Given the description of an element on the screen output the (x, y) to click on. 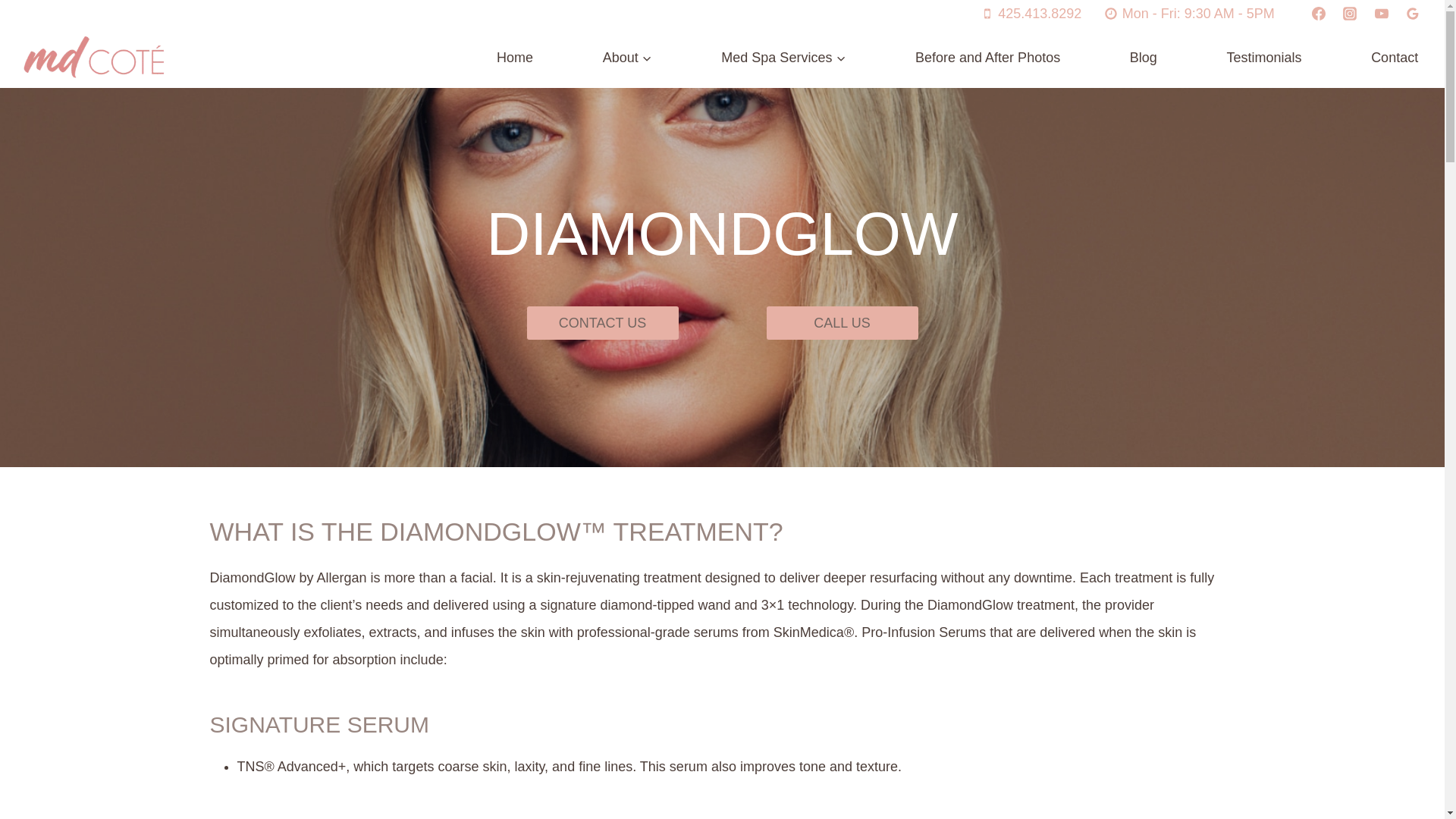
Contact (1394, 57)
Testimonials (1264, 57)
CONTACT US (601, 322)
CALL US (841, 322)
Blog (1143, 57)
Before and After Photos (987, 57)
Home (514, 57)
425.413.8292 (1030, 13)
About (627, 57)
Med Spa Services (783, 57)
